Given the description of an element on the screen output the (x, y) to click on. 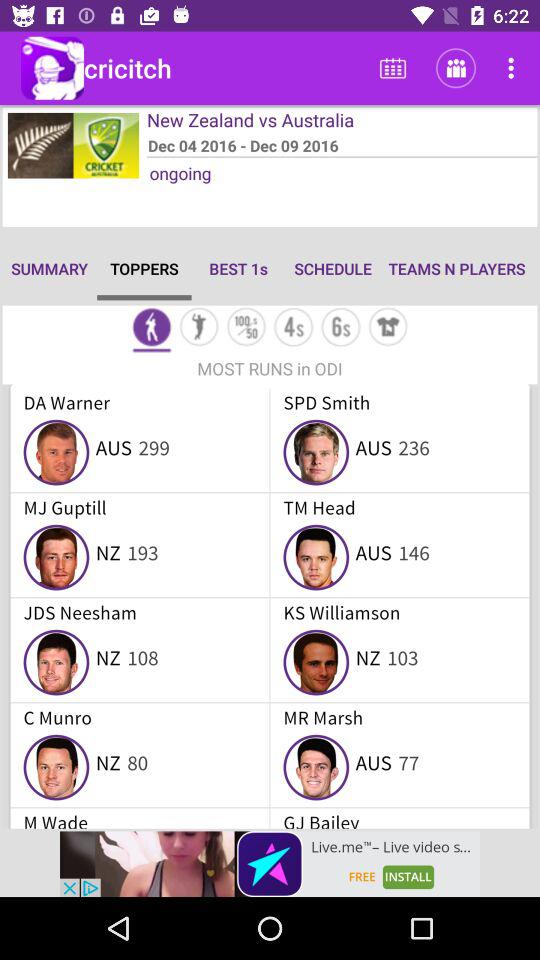
change category (340, 328)
